Given the description of an element on the screen output the (x, y) to click on. 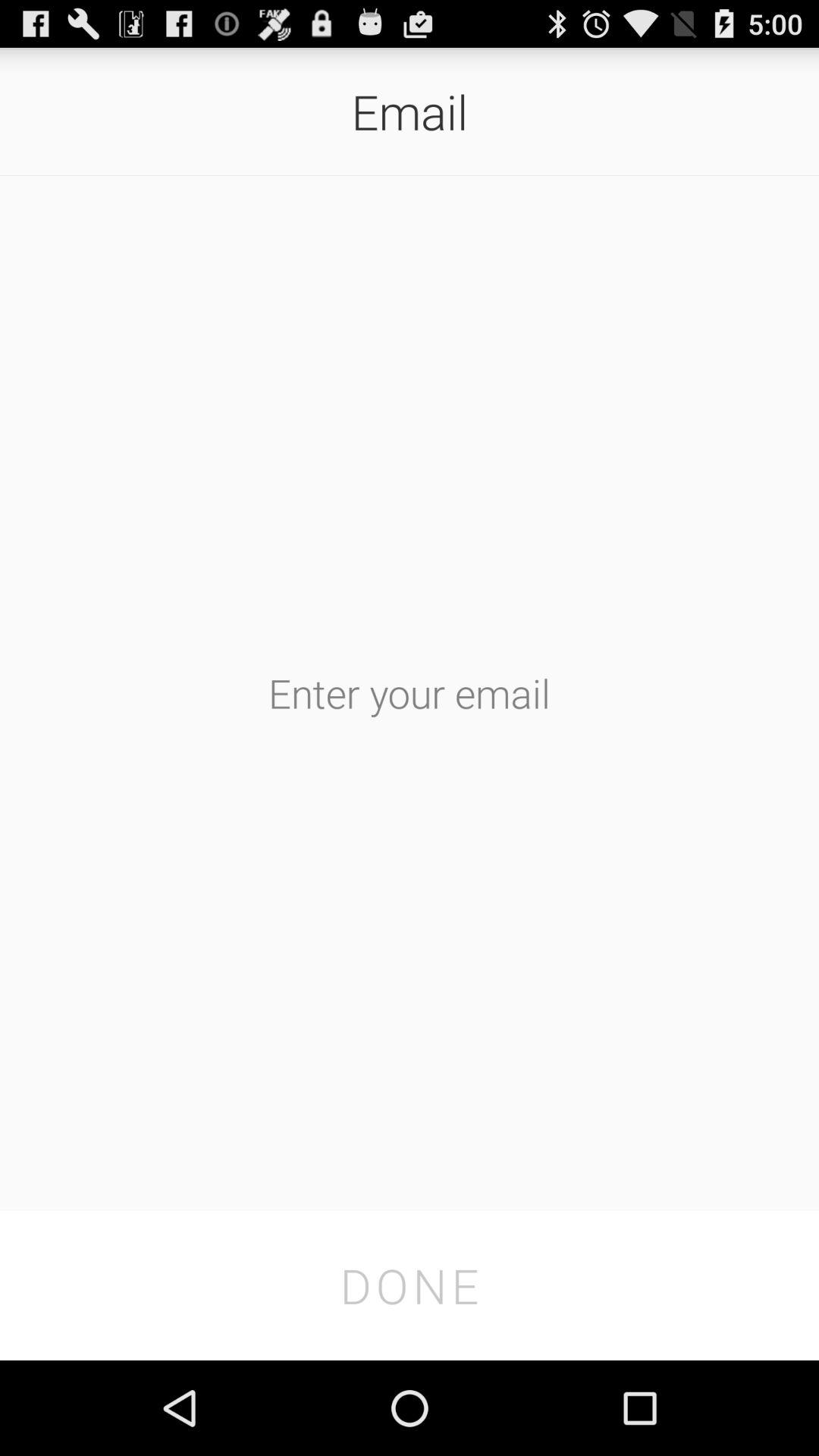
type email (409, 692)
